Given the description of an element on the screen output the (x, y) to click on. 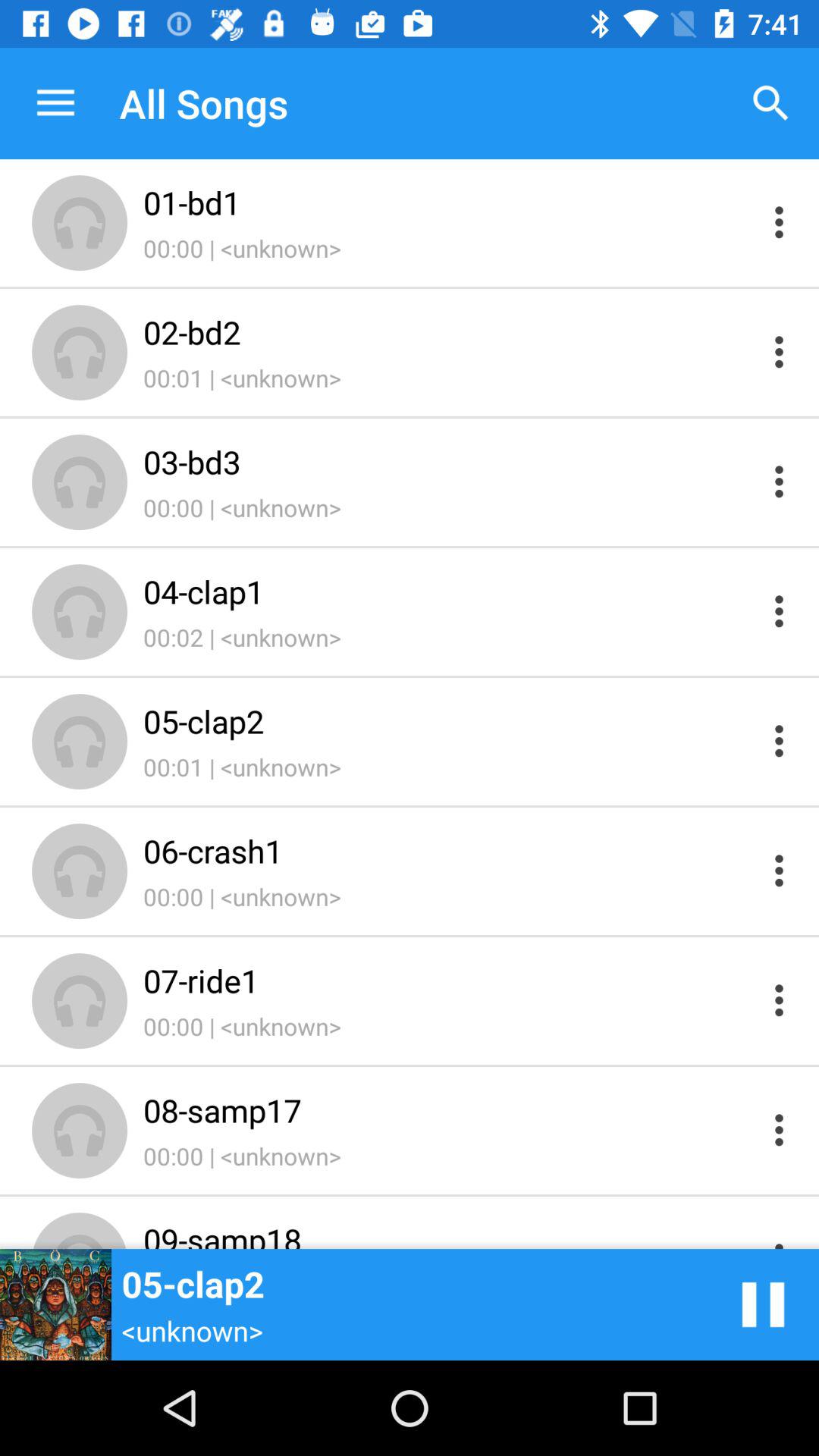
tap the item to the left of the all songs item (55, 103)
